Given the description of an element on the screen output the (x, y) to click on. 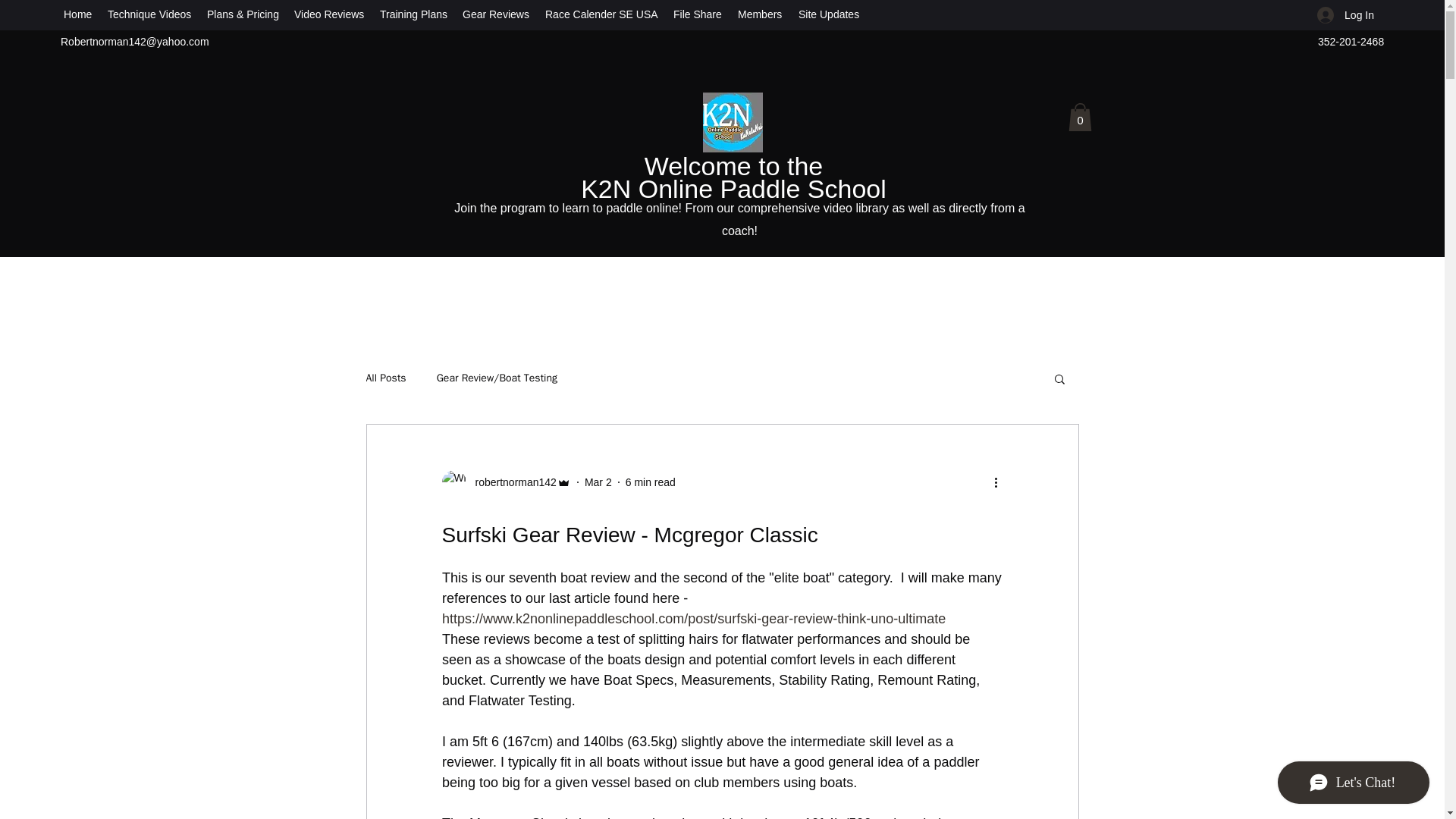
6 min read (650, 481)
Race Calender SE USA (601, 14)
Home (78, 14)
robertnorman142 (510, 482)
Technique Videos (149, 14)
robertnorman142 (505, 482)
Site Updates (828, 14)
File Share (697, 14)
Gear Reviews (495, 14)
Members (760, 14)
Welcome to the (734, 165)
Mar 2 (598, 481)
Log In (1345, 15)
Video Reviews (329, 14)
Training Plans (413, 14)
